Given the description of an element on the screen output the (x, y) to click on. 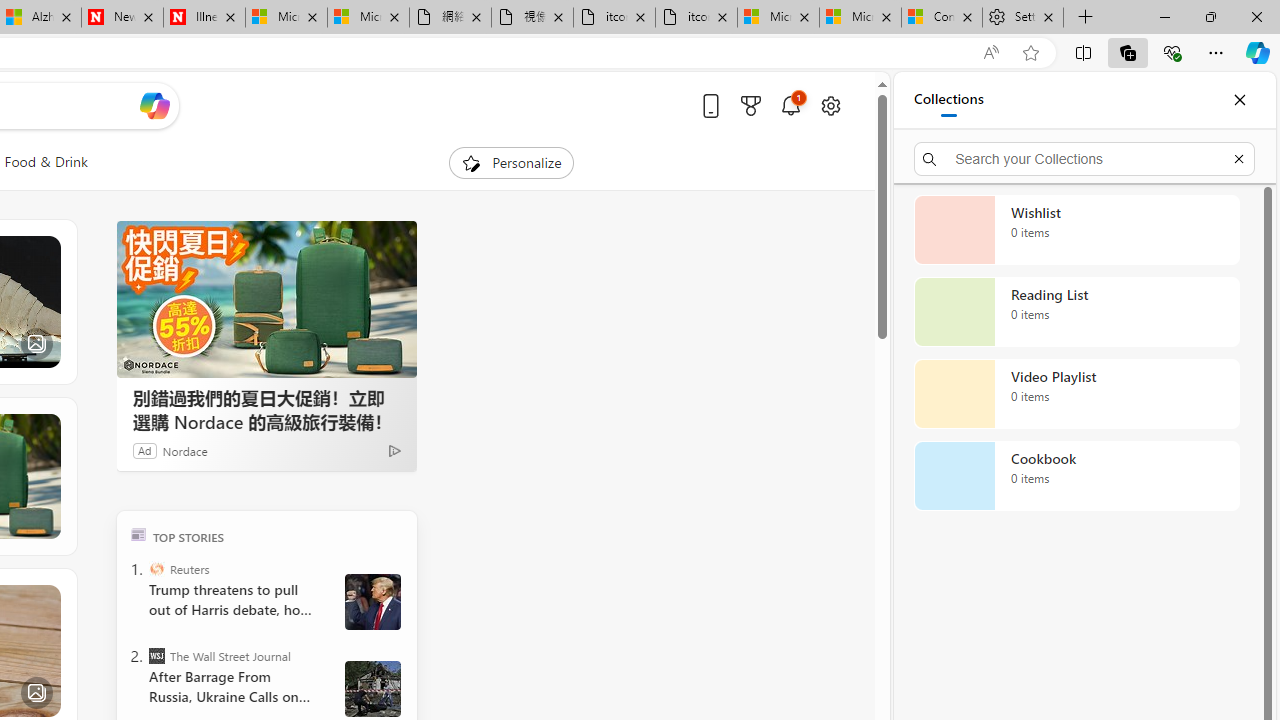
Wishlist collection, 0 items (1076, 229)
itconcepthk.com/projector_solutions.mp4 (696, 17)
Newsweek - News, Analysis, Politics, Business, Technology (121, 17)
